Given the description of an element on the screen output the (x, y) to click on. 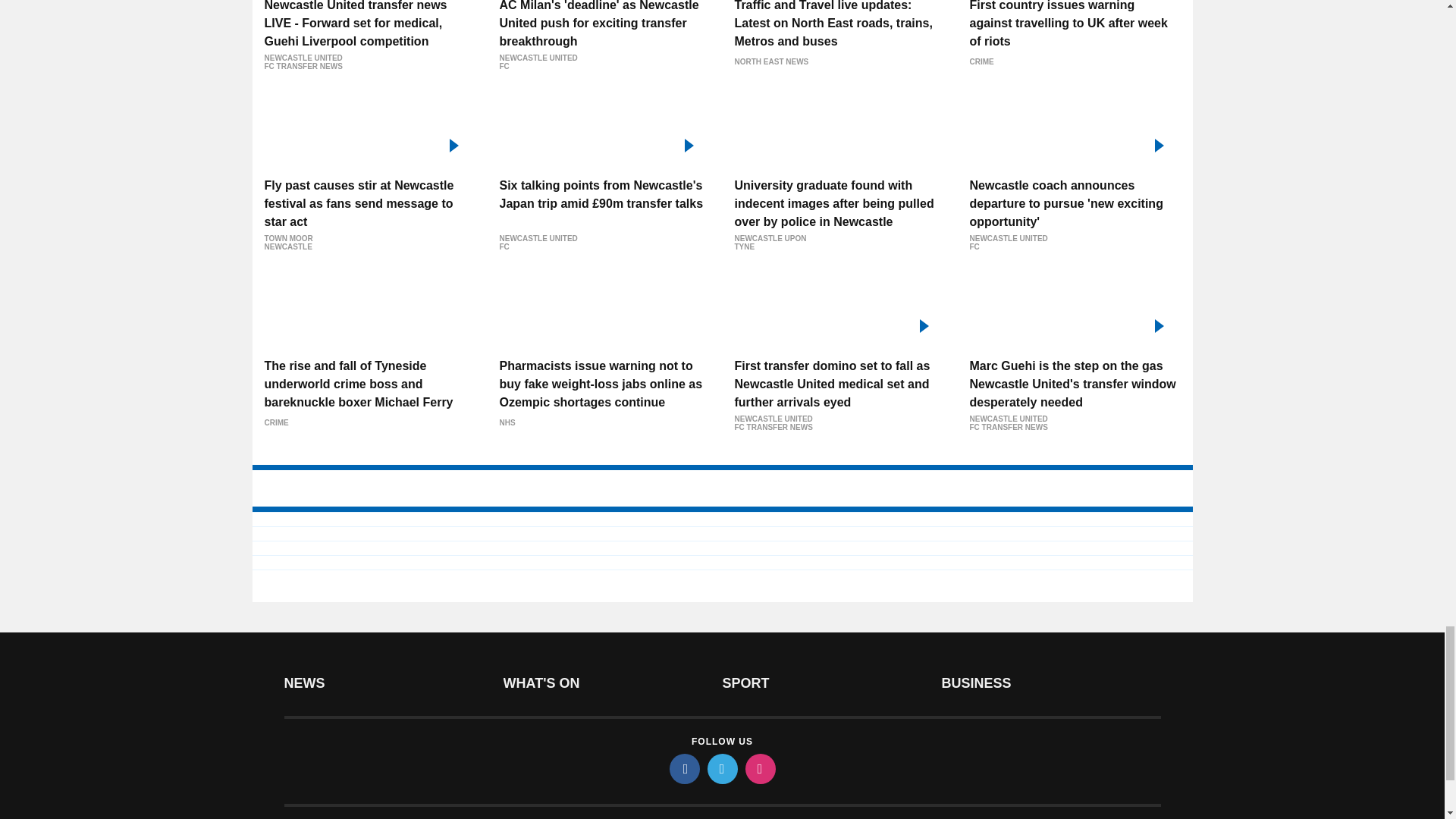
instagram (759, 768)
facebook (683, 768)
twitter (721, 768)
